Given the description of an element on the screen output the (x, y) to click on. 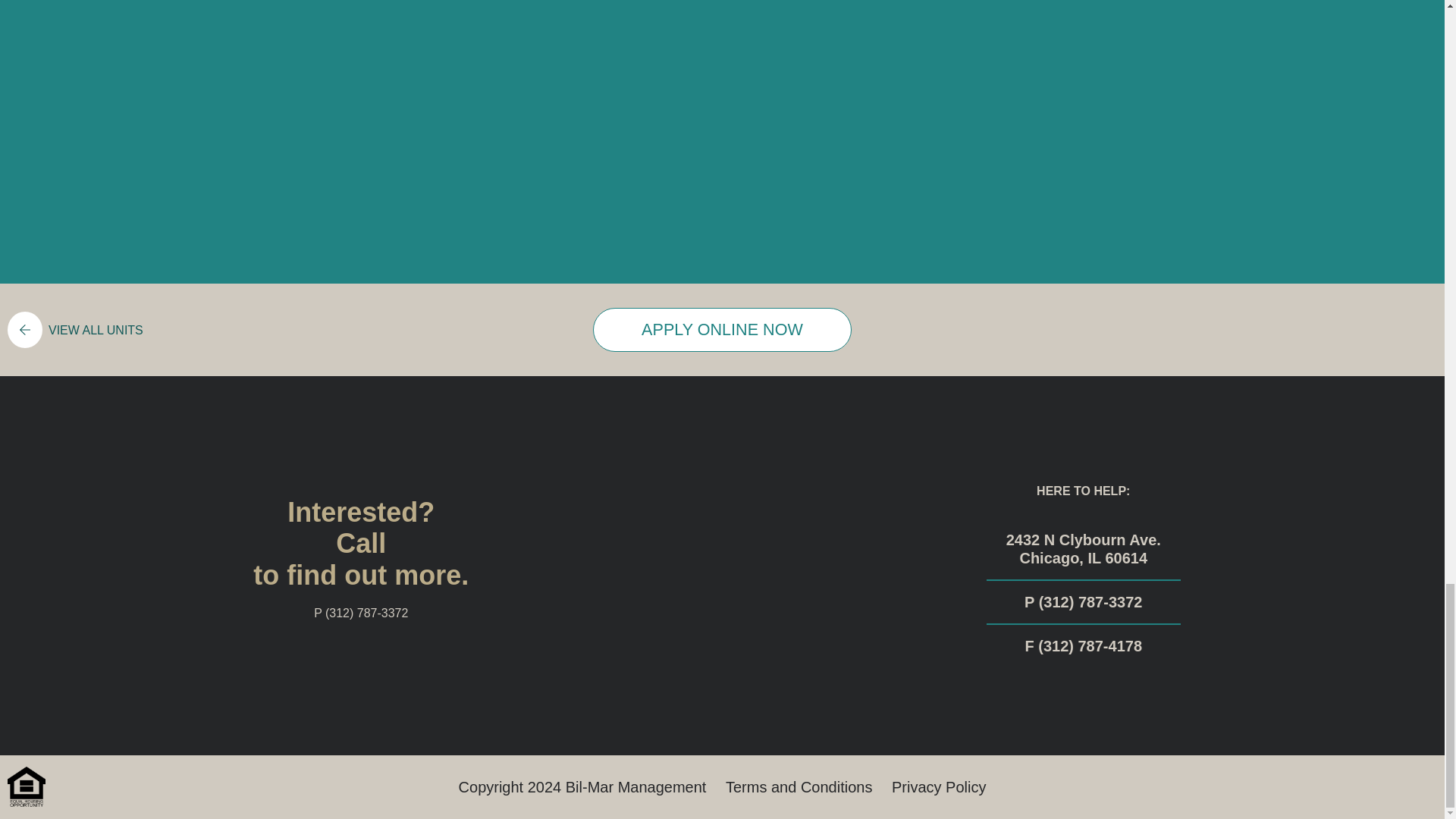
Privacy Policy (938, 786)
Terms and Conditions (798, 786)
Bil-Mar Management (636, 786)
Privacy Policy (938, 786)
APPLY ONLINE NOW (721, 329)
VIEW ALL UNITS (71, 329)
Terms and Conditions (798, 786)
Bil-Mar Management (636, 786)
